Given the description of an element on the screen output the (x, y) to click on. 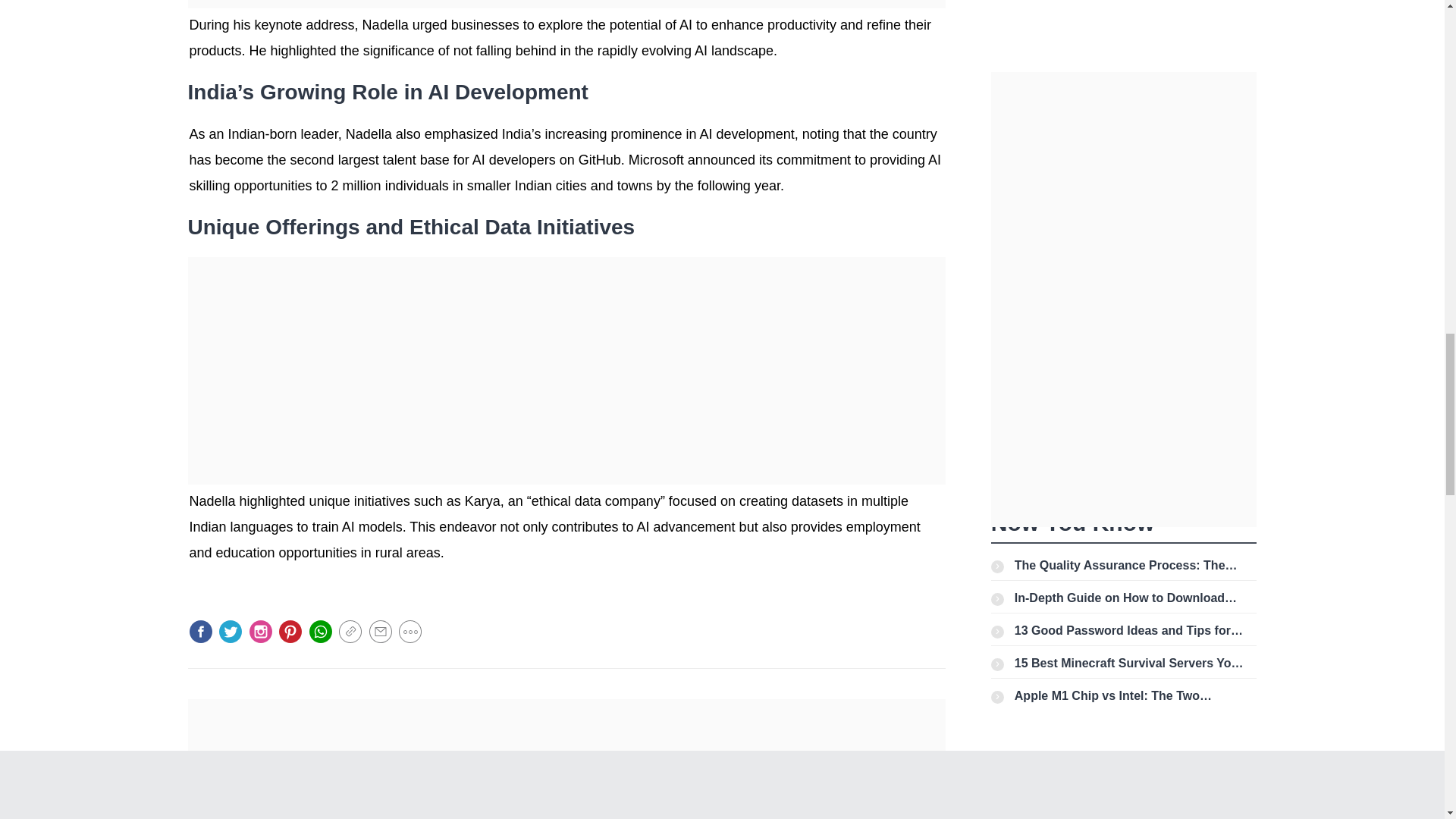
Share on Instagram (260, 630)
Share on twitter (230, 630)
Share on facebook (200, 630)
